Given the description of an element on the screen output the (x, y) to click on. 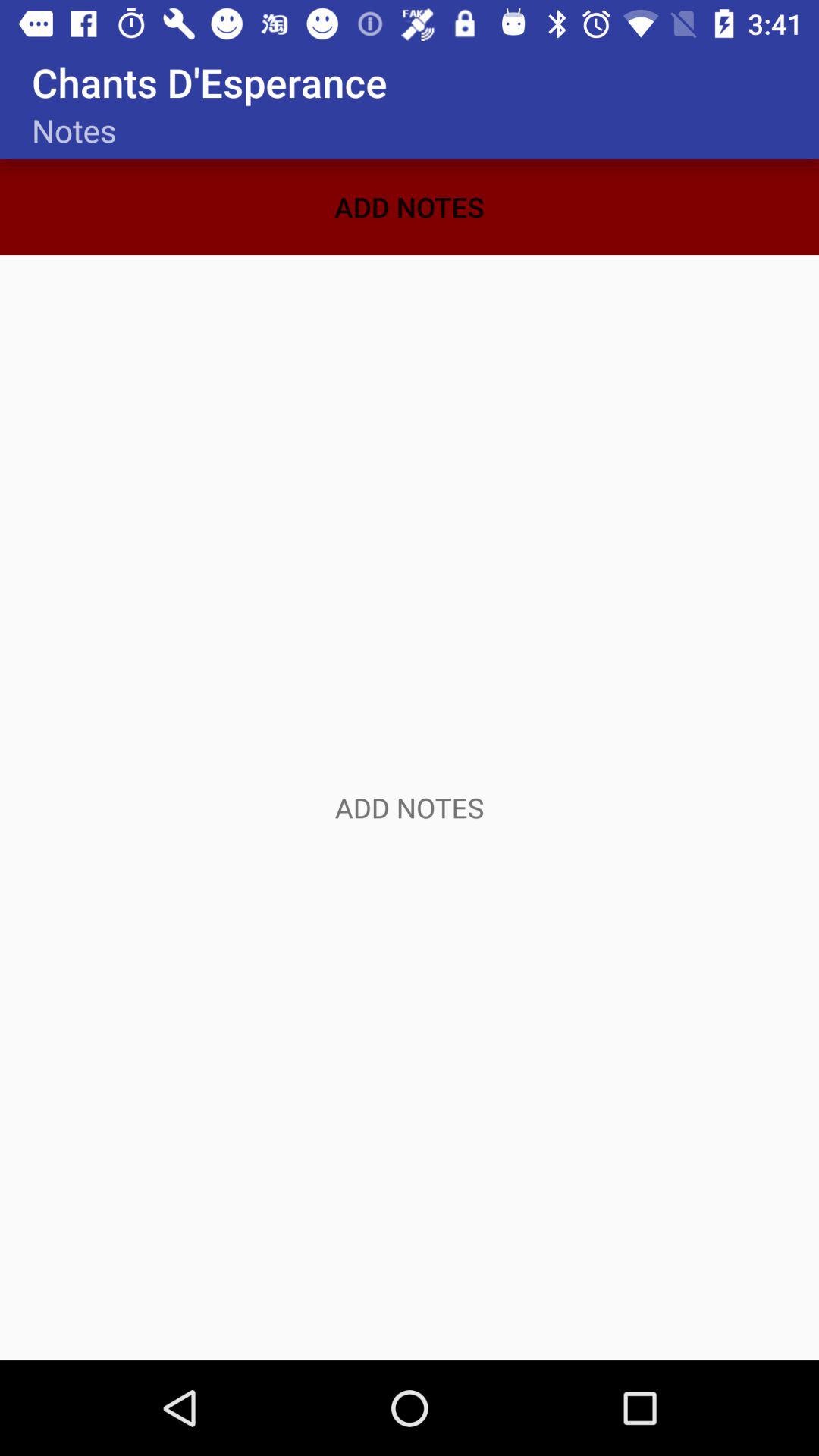
open icon below add notes icon (409, 807)
